Given the description of an element on the screen output the (x, y) to click on. 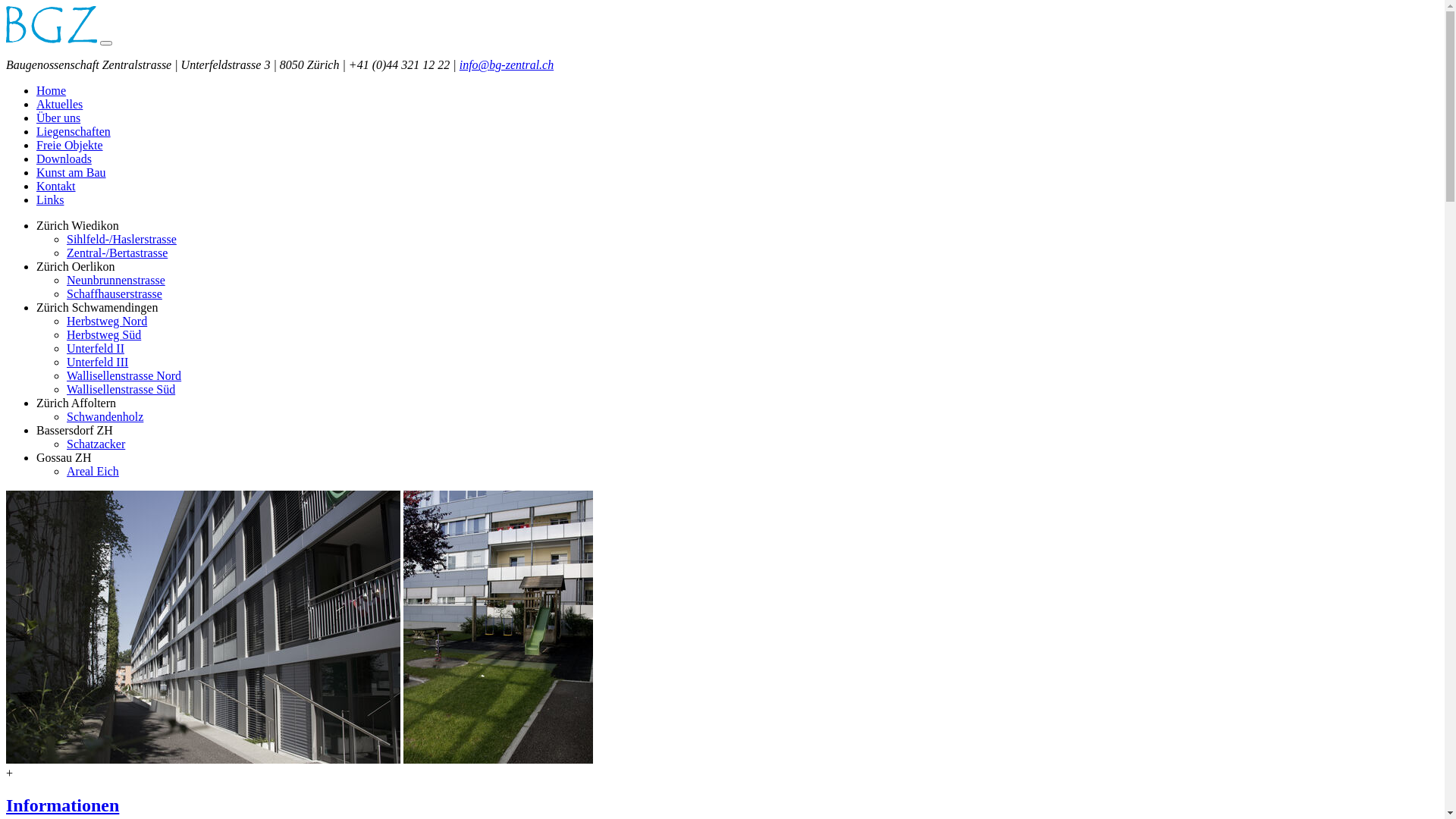
Liegenschaften Element type: text (73, 131)
info@bg-zentral.ch Element type: text (506, 64)
Schaffhauserstrasse Element type: text (114, 293)
Aktuelles Element type: text (59, 103)
Kontakt Element type: text (55, 185)
Schatzacker Element type: text (95, 443)
Herbstweg Nord Element type: text (106, 320)
Links Element type: text (49, 199)
Areal Eich Element type: text (92, 470)
Wallisellenstrasse Nord Element type: text (123, 375)
Sihlfeld-/Haslerstrasse Element type: text (121, 238)
Freie Objekte Element type: text (69, 144)
Unterfeld II Element type: text (95, 348)
Informationen Element type: text (62, 805)
Schwandenholz Element type: text (104, 416)
Home Element type: text (50, 90)
Unterfeld III Element type: text (97, 361)
Kunst am Bau Element type: text (71, 172)
Neunbrunnenstrasse Element type: text (115, 279)
Downloads Element type: text (63, 158)
Zentral-/Bertastrasse Element type: text (116, 252)
